Given the description of an element on the screen output the (x, y) to click on. 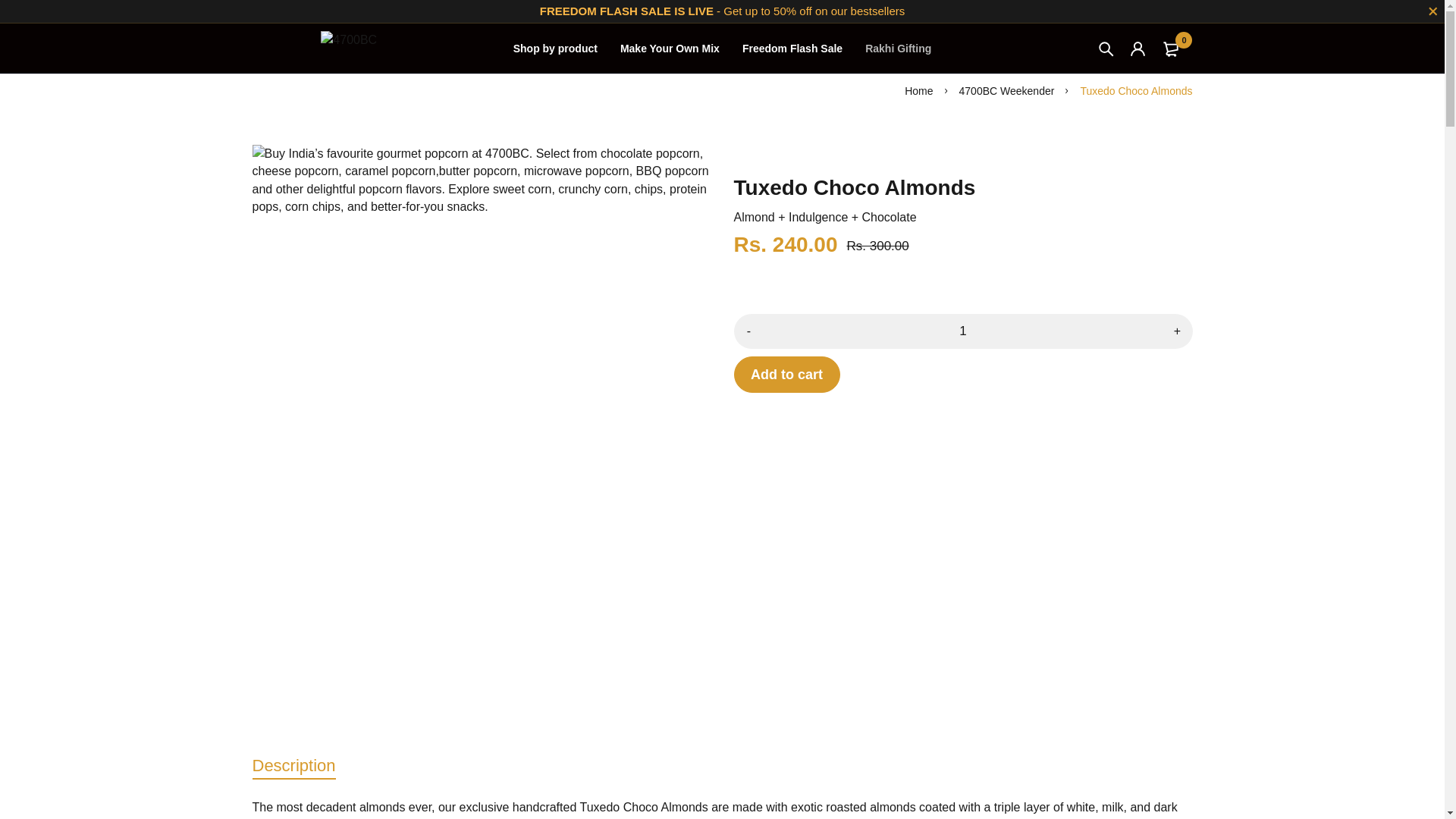
1 (962, 330)
0 (1173, 48)
Rakhi Gifting (897, 48)
Freedom Flash Sale (792, 48)
Shop by product (554, 48)
Make Your Own Mix (669, 48)
